Given the description of an element on the screen output the (x, y) to click on. 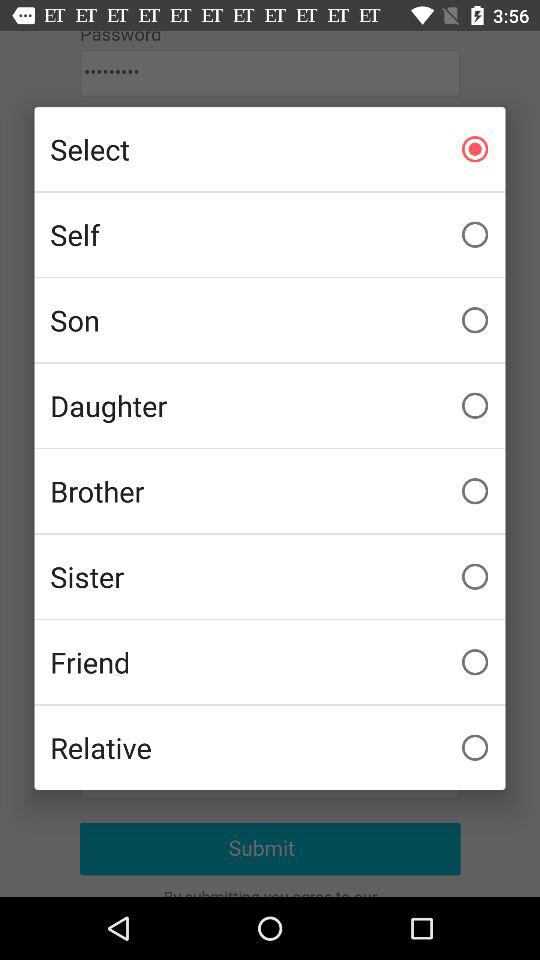
select the item below daughter icon (269, 491)
